Given the description of an element on the screen output the (x, y) to click on. 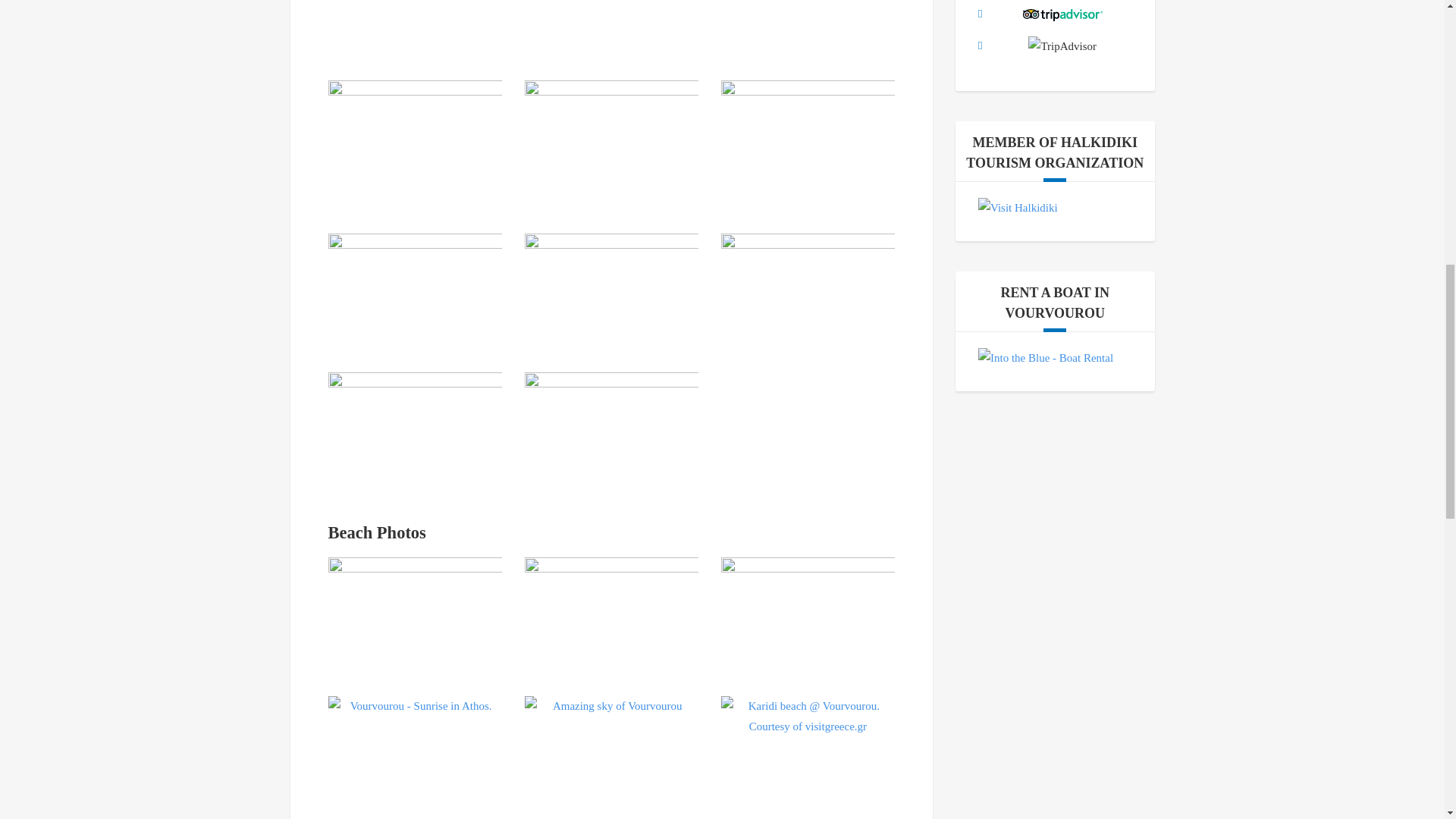
Aerial photo of Vourvourou bay (413, 430)
Aerial photo of Karydi central beach (807, 291)
Aerial photo of Vourvourou bay (413, 145)
Aerial photo of  Diaporos island (611, 291)
Aerial photo of Karydi central beach (611, 29)
Panoramic view of Diaporos island (413, 615)
Panoramic view of Diaporos island (807, 138)
Panoramic view of Agios Isidoros island (611, 138)
